Given the description of an element on the screen output the (x, y) to click on. 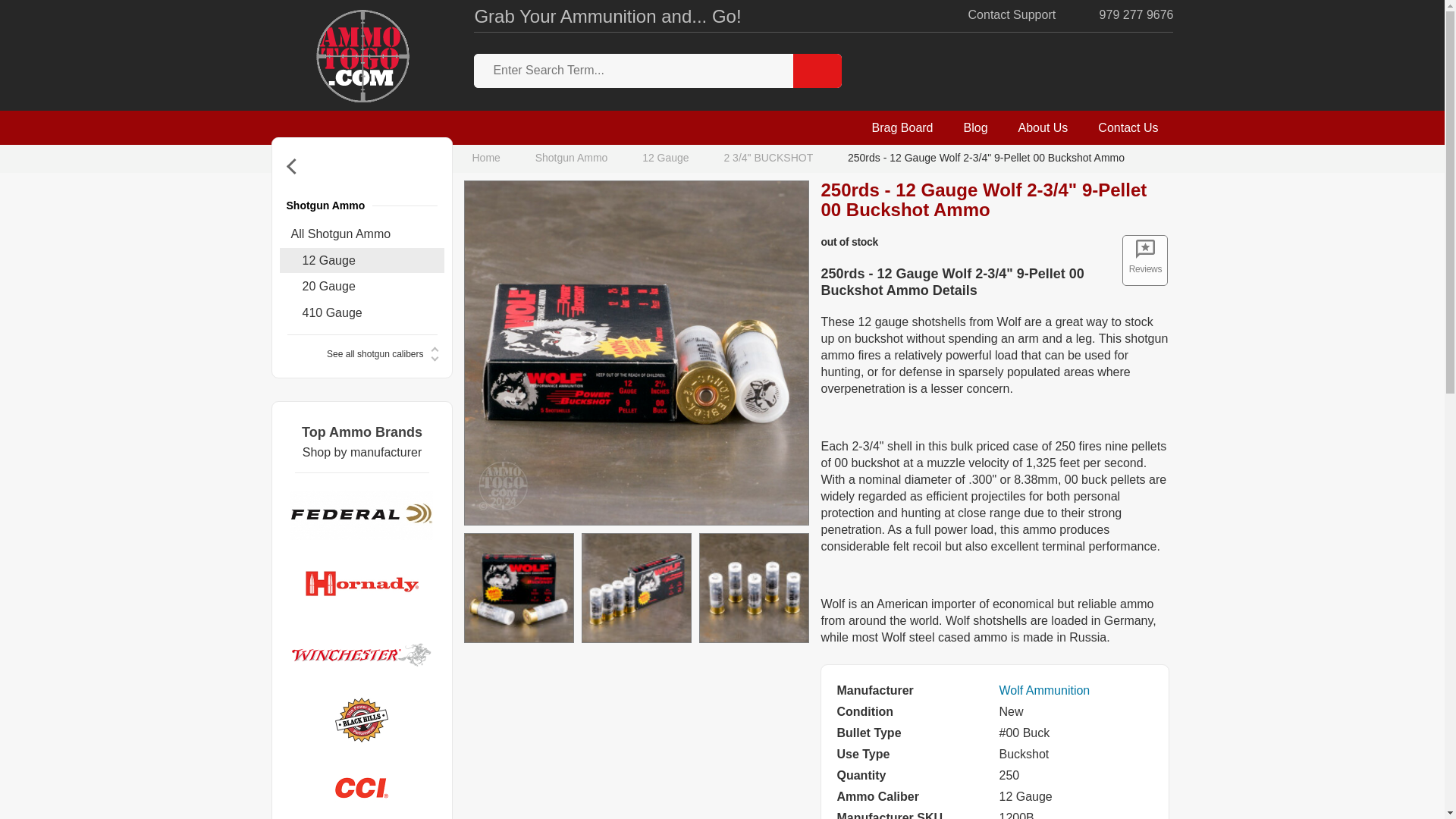
Reviews (1144, 260)
Contact Us (1128, 127)
12 Gauge (665, 158)
Reviews (1144, 260)
Brag Board (903, 127)
979 277 9676 (1123, 15)
Blog (976, 127)
Contact Support (1000, 15)
Home (488, 158)
Wolf Ammunition (1043, 689)
